Given the description of an element on the screen output the (x, y) to click on. 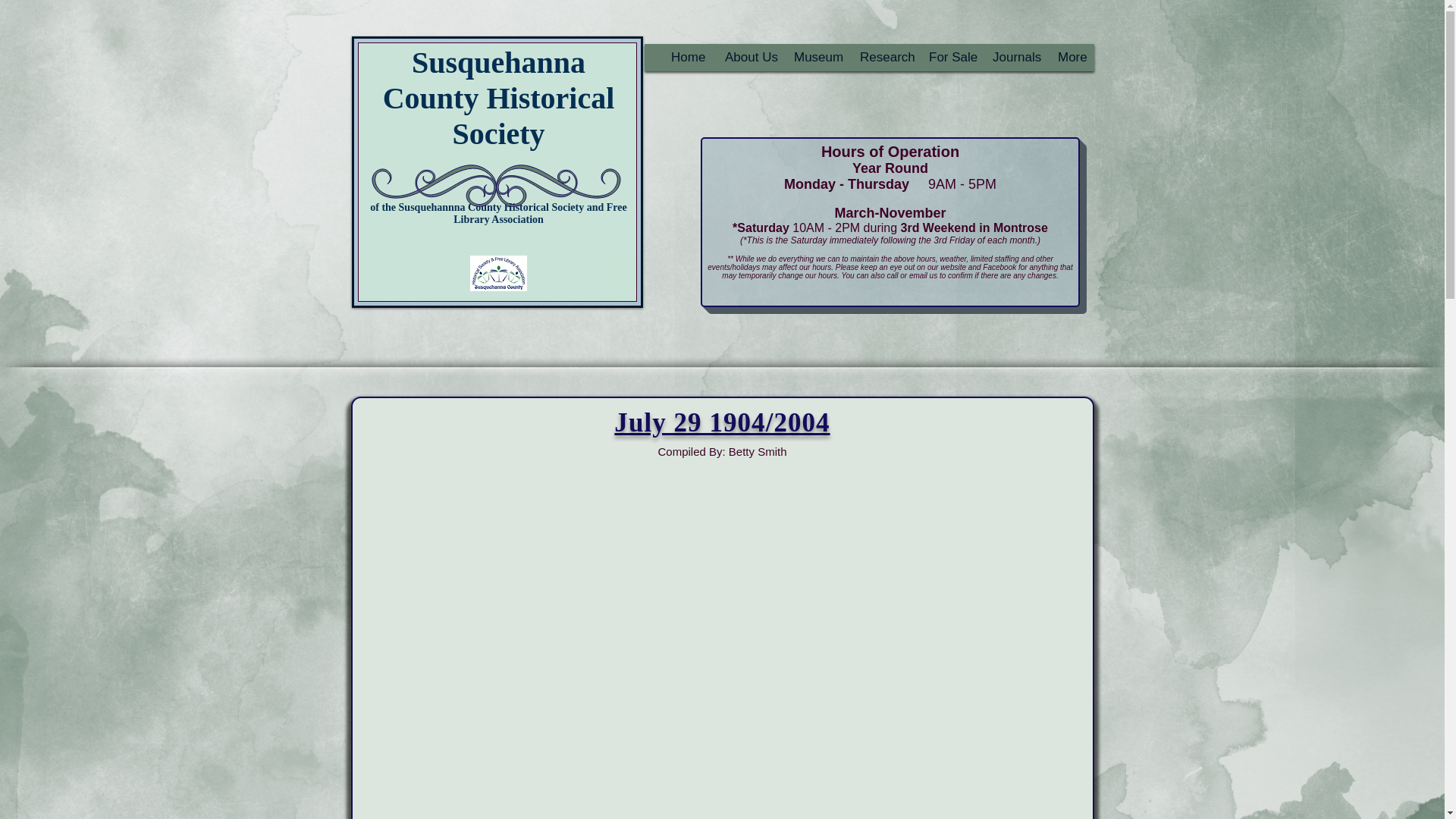
Home (683, 57)
Museum (811, 57)
For Sale (946, 57)
Journals (1010, 57)
Susquehanna County Historical Society (498, 97)
About Us (745, 57)
